Given the description of an element on the screen output the (x, y) to click on. 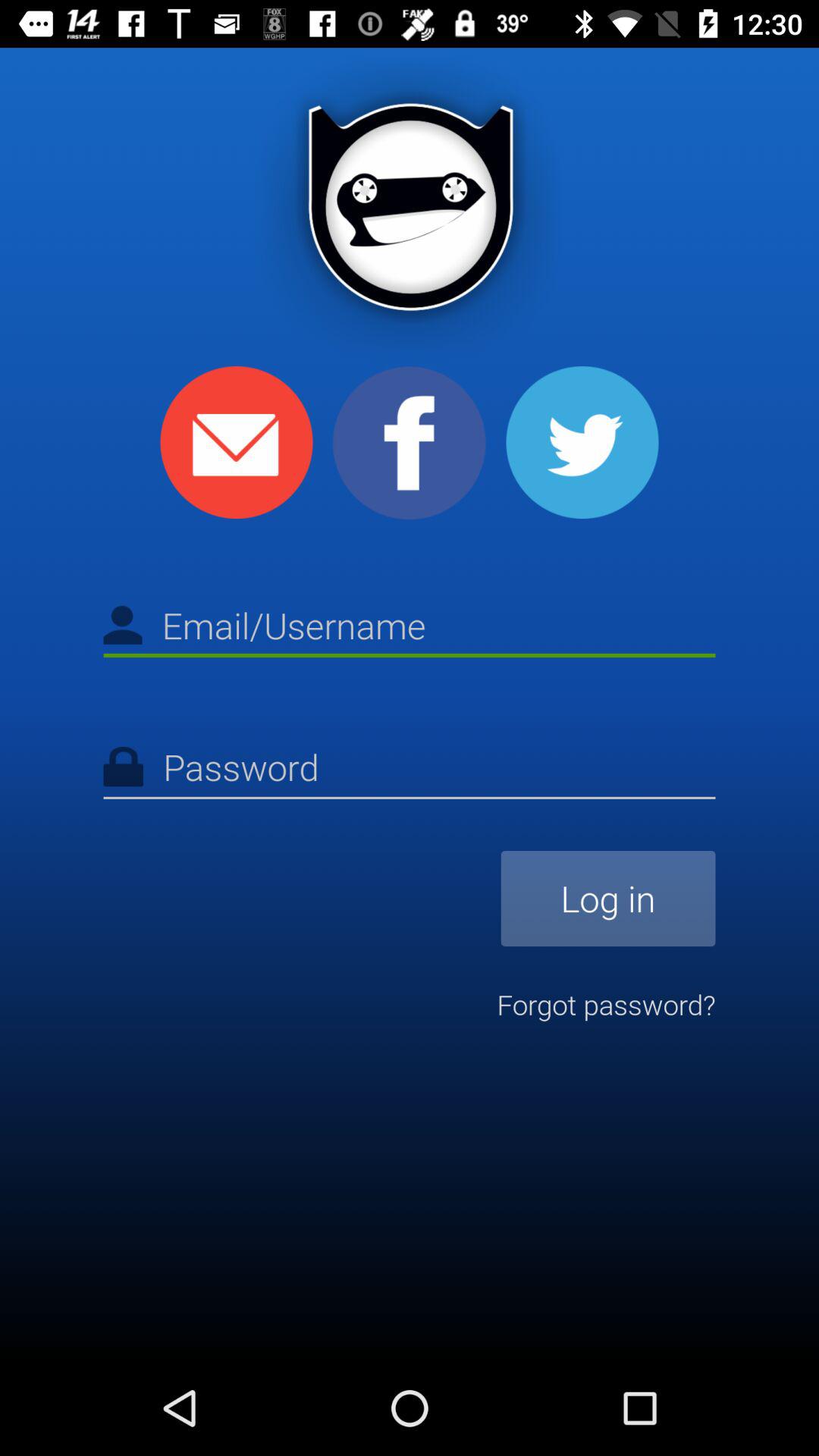
login through twitter (582, 442)
